Given the description of an element on the screen output the (x, y) to click on. 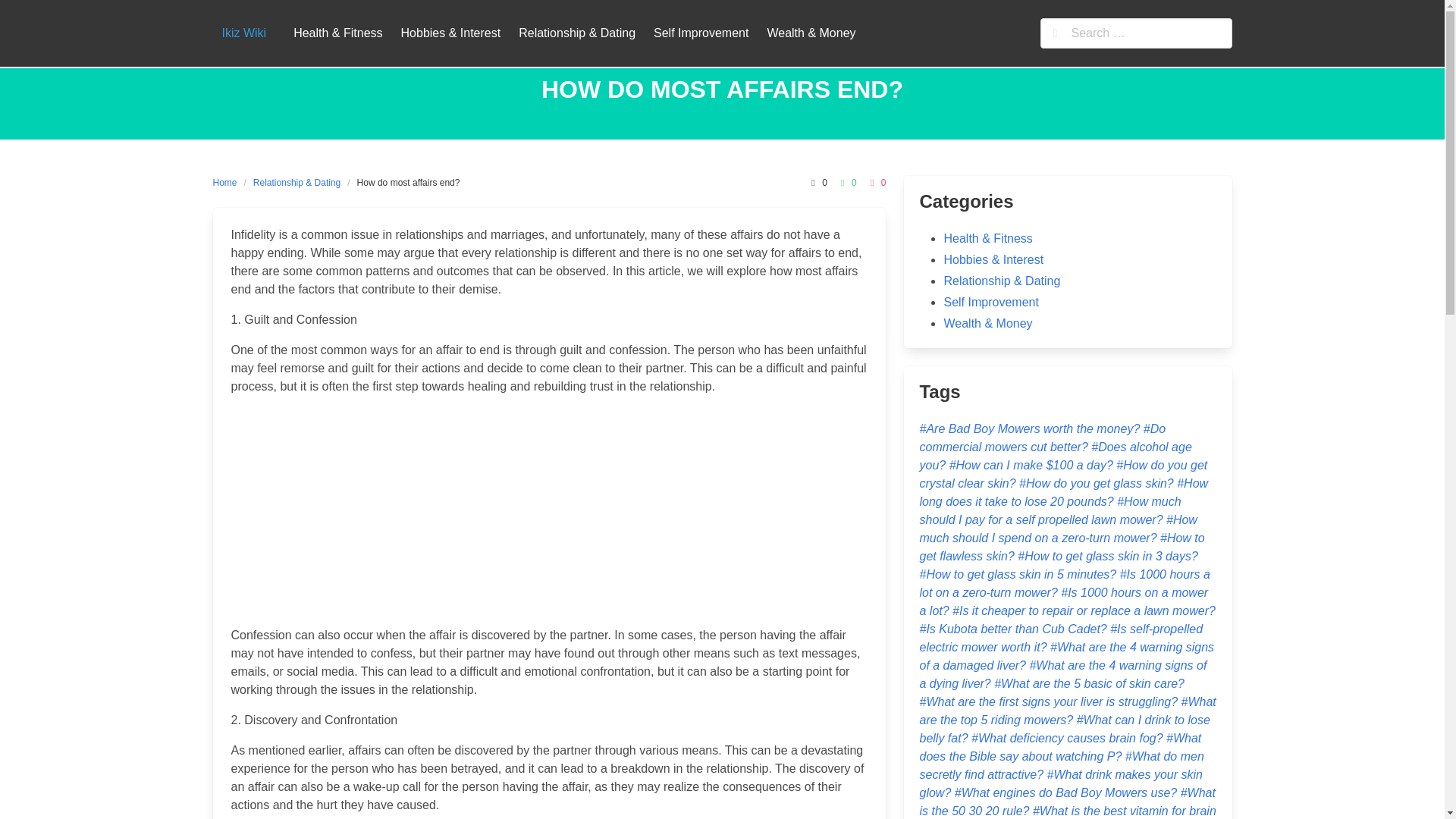
Self Improvement (990, 301)
Home (227, 182)
0 (846, 182)
0 (876, 182)
Ikiz Wiki (243, 33)
How do most affairs end? (408, 182)
Ikiz Wiki (243, 33)
Self Improvement (701, 33)
Self Improvement (701, 33)
